Given the description of an element on the screen output the (x, y) to click on. 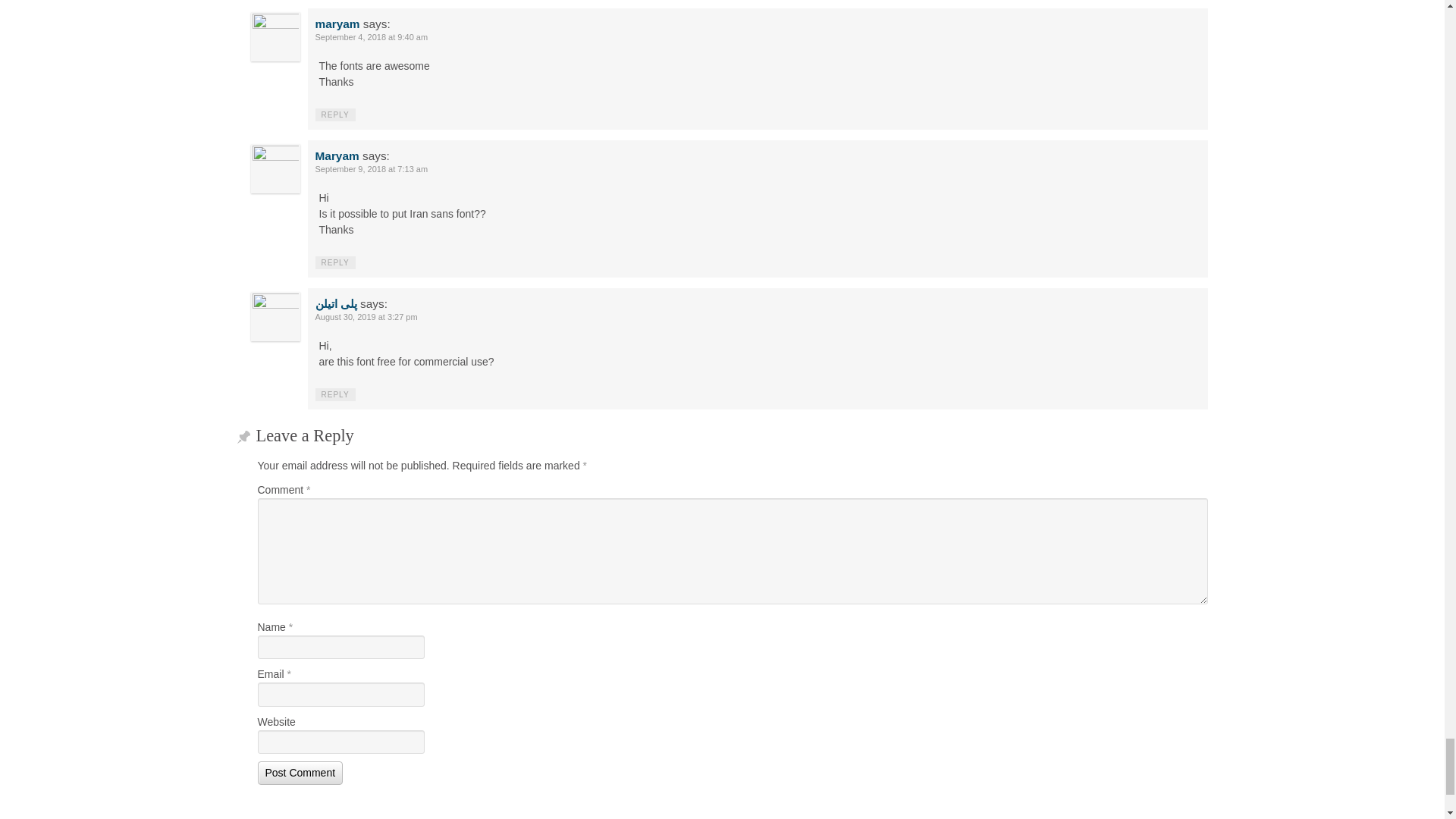
Post Comment (300, 772)
